Given the description of an element on the screen output the (x, y) to click on. 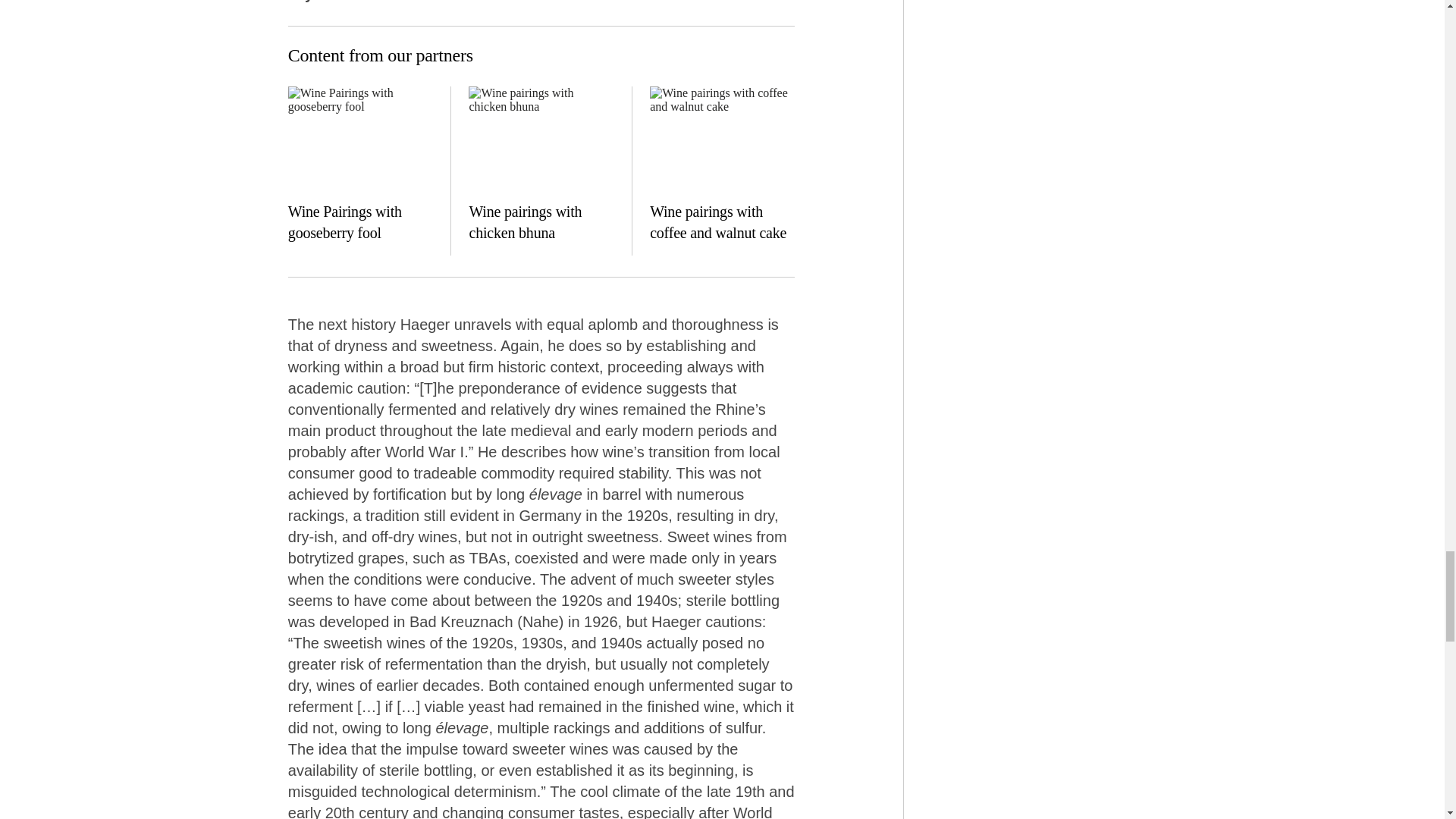
Wine pairings with chicken bhuna  (524, 221)
Wine Pairings with gooseberry fool (344, 221)
Wine Pairings with gooseberry fool (360, 140)
